Given the description of an element on the screen output the (x, y) to click on. 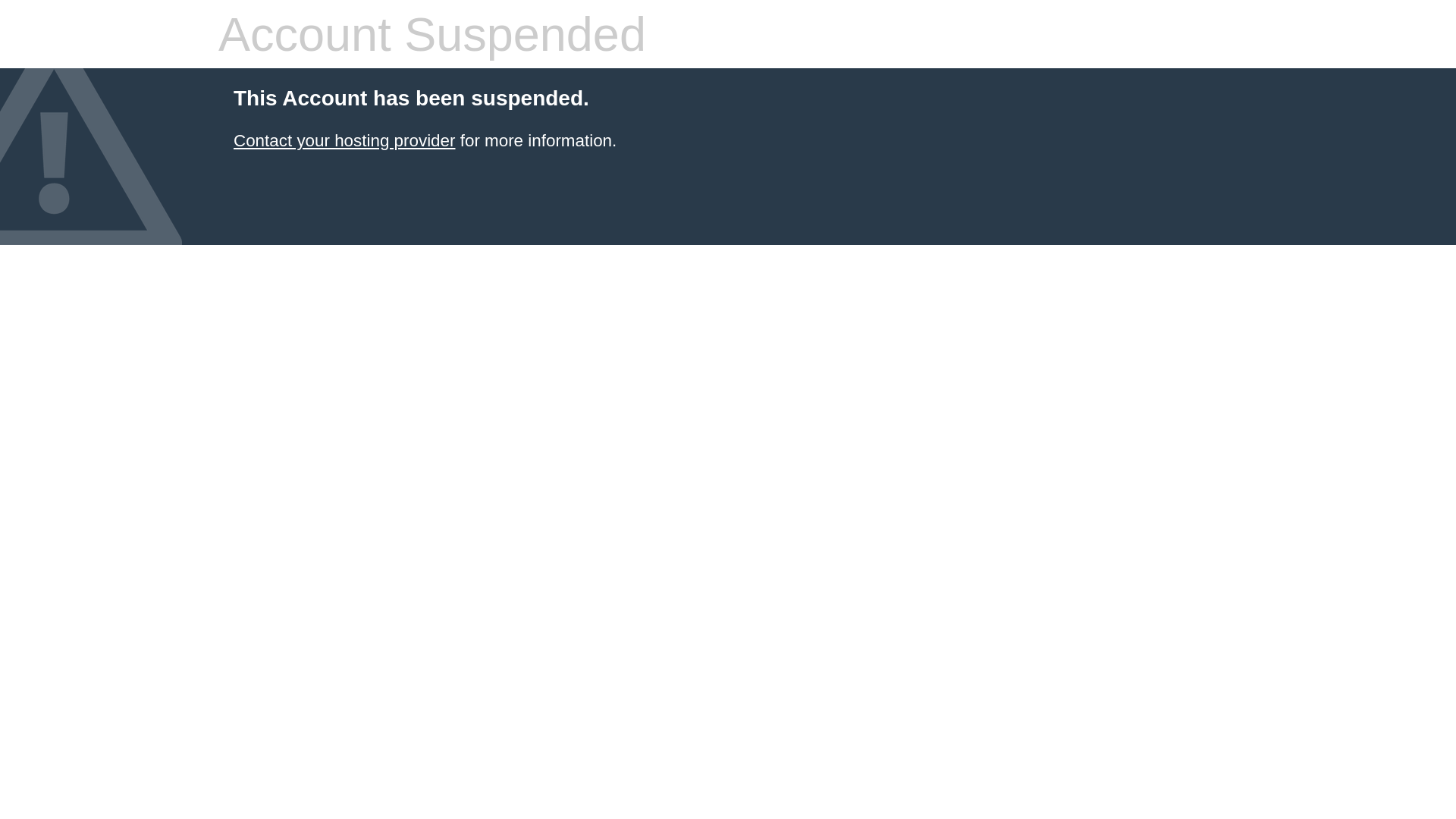
Contact your hosting provider Element type: text (344, 140)
